Given the description of an element on the screen output the (x, y) to click on. 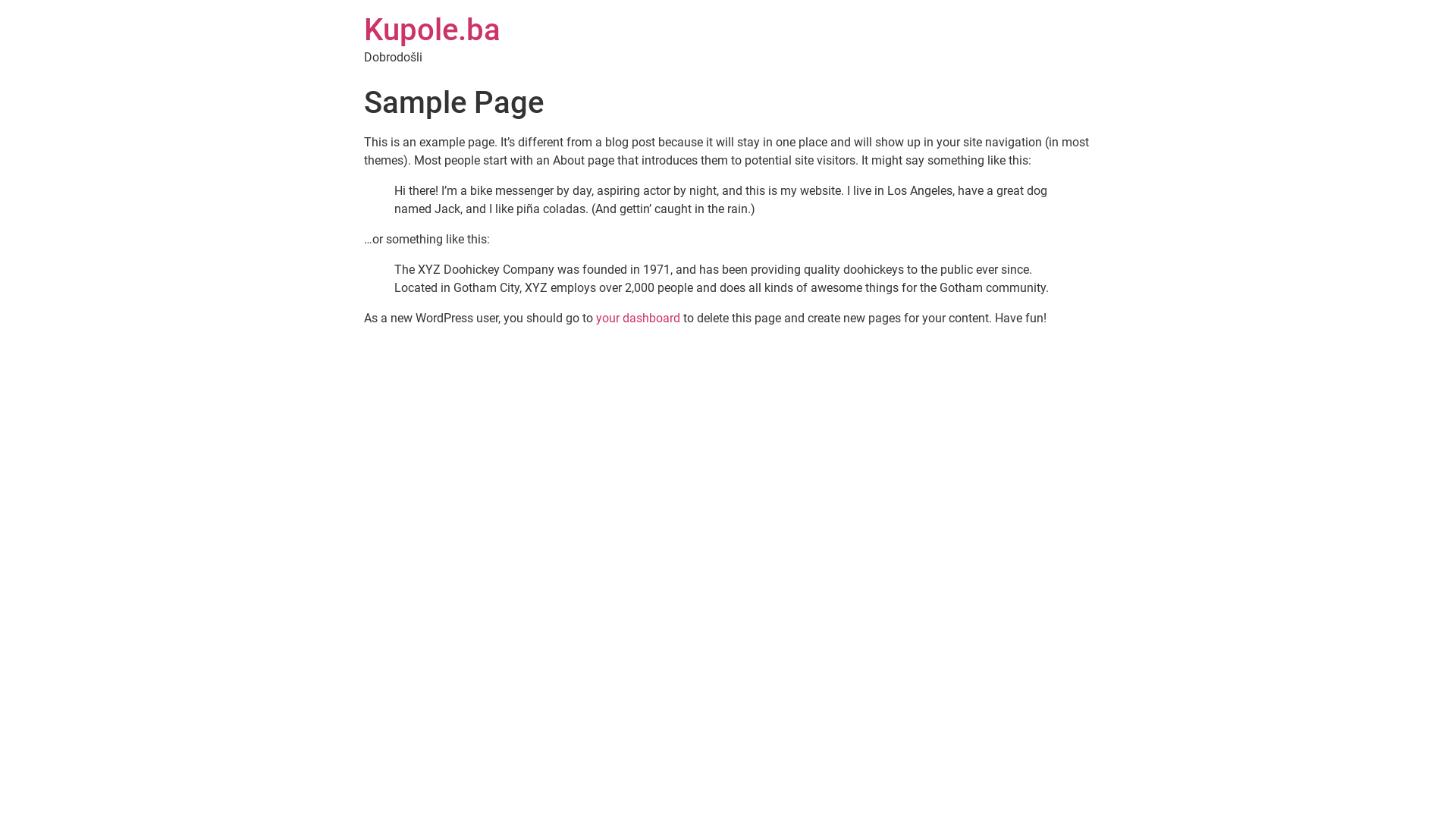
your dashboard Element type: text (638, 317)
Kupole.ba Element type: text (432, 29)
